Given the description of an element on the screen output the (x, y) to click on. 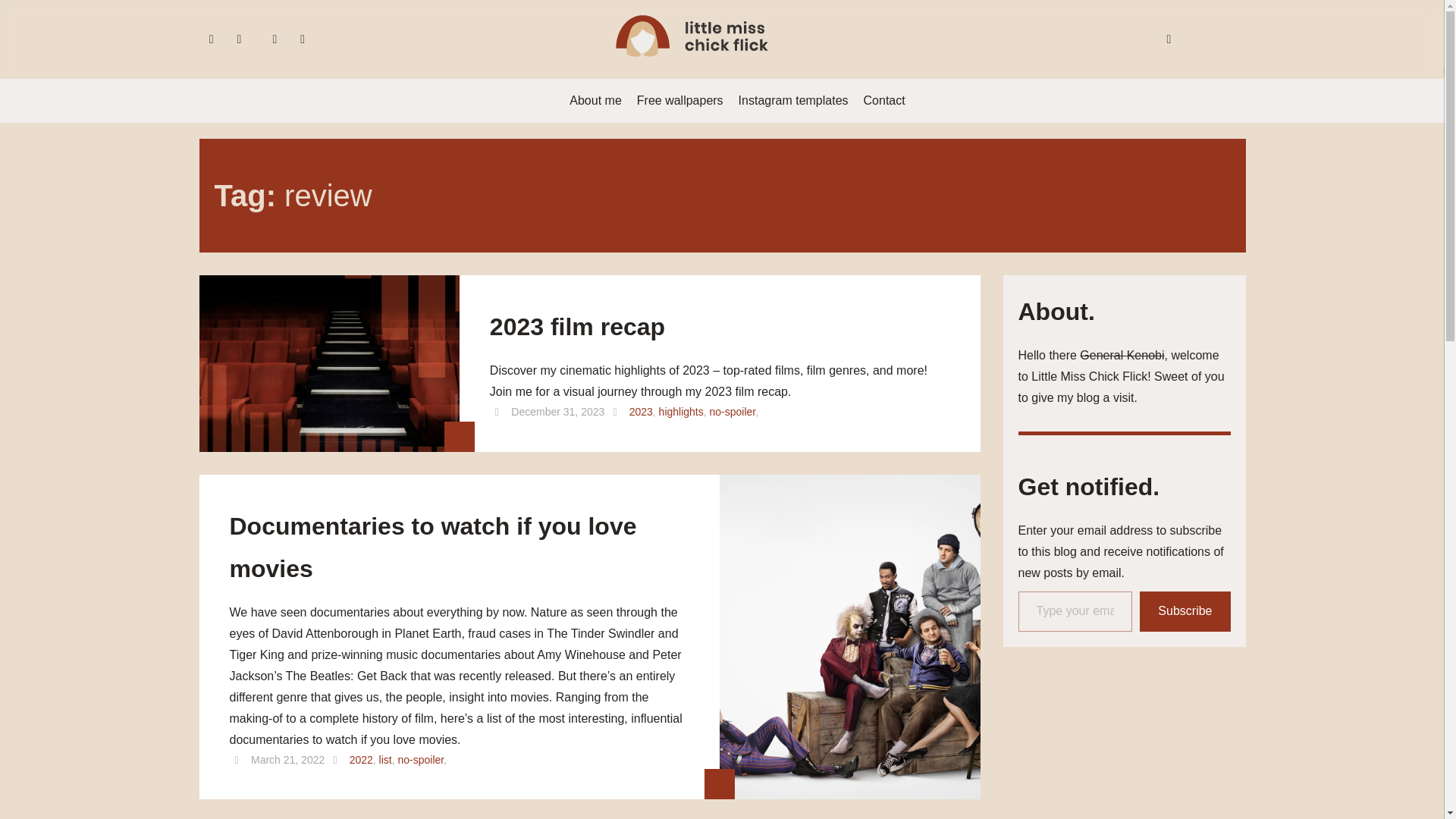
Free wallpapers (679, 100)
About me (595, 100)
Free wallpapers (679, 100)
About me (595, 100)
no-spoiler (420, 759)
2023 film recap (577, 332)
Contact (884, 100)
Instagram templates (793, 100)
list (384, 759)
highlights (681, 411)
no-spoiler (732, 411)
Instagram templates (793, 100)
2022 (360, 759)
Please fill in this field. (1074, 611)
Documentaries to watch if you love movies (458, 553)
